Given the description of an element on the screen output the (x, y) to click on. 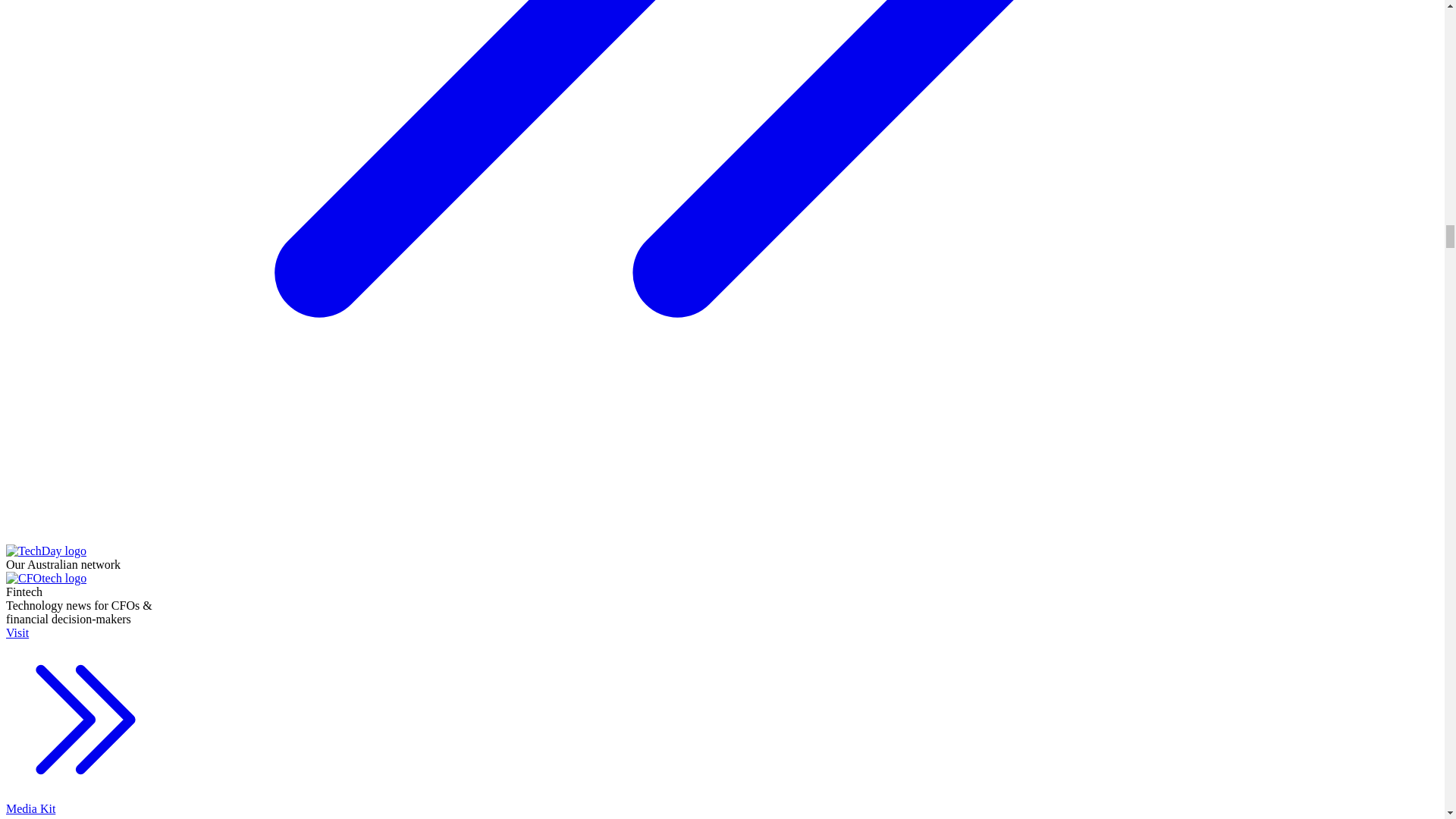
Media Kit (85, 810)
Visit (85, 714)
